Given the description of an element on the screen output the (x, y) to click on. 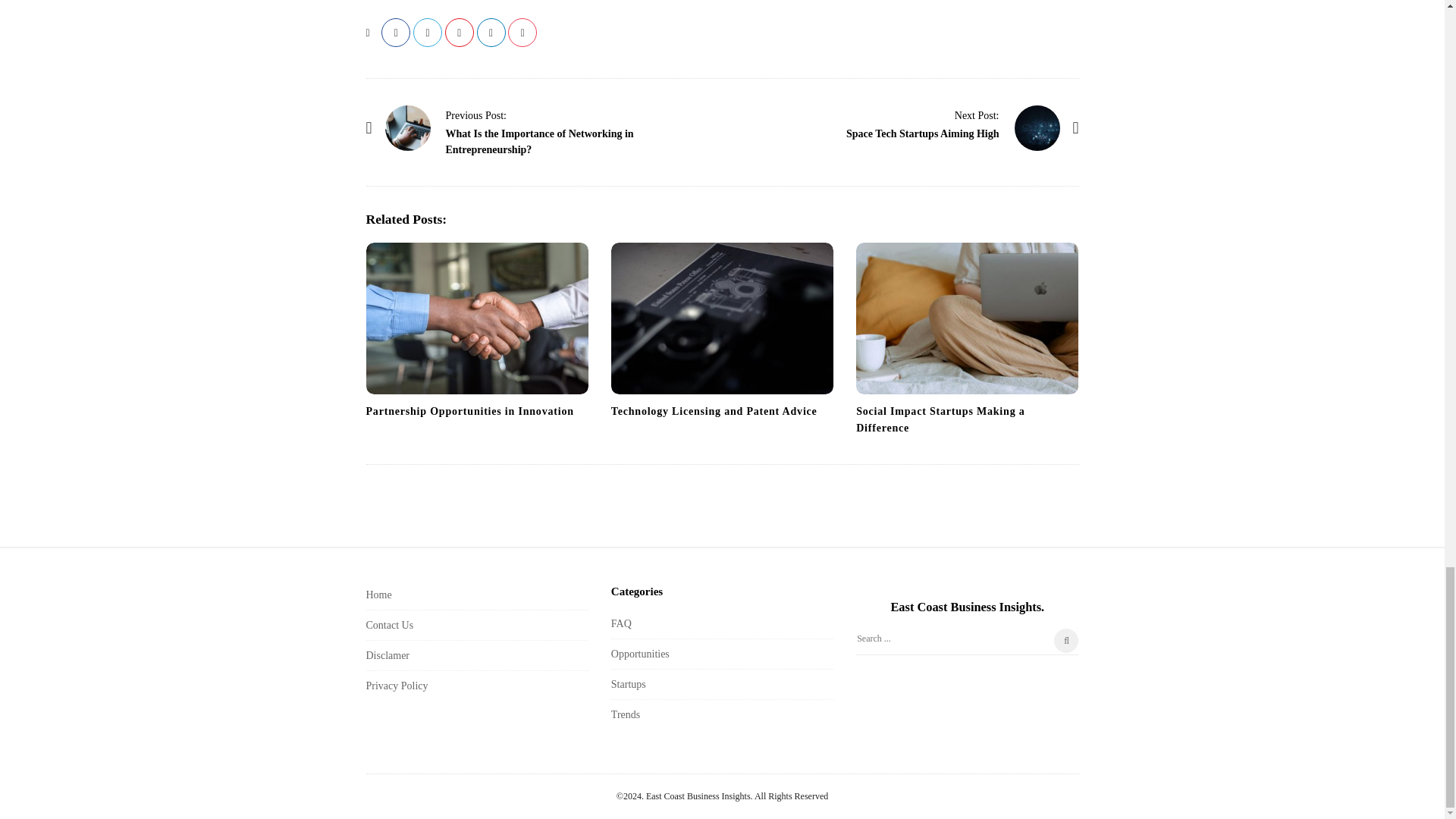
Startups (628, 684)
Previous Post: (475, 114)
Opportunities (640, 654)
What Is the Importance of Networking in Entrepreneurship? (475, 114)
What Is the Importance of Networking in Entrepreneurship? (407, 127)
Privacy Policy (396, 685)
Space Tech Startups Aiming High (921, 133)
Social Impact Startups Making a Difference (940, 419)
Technology Licensing and Patent Advice (721, 317)
Space Tech Startups Aiming High (1036, 127)
Space Tech Startups Aiming High (976, 114)
Trends (625, 714)
Partnership Opportunities in Innovation (469, 410)
Contact Us (389, 624)
Disclamer (387, 655)
